Given the description of an element on the screen output the (x, y) to click on. 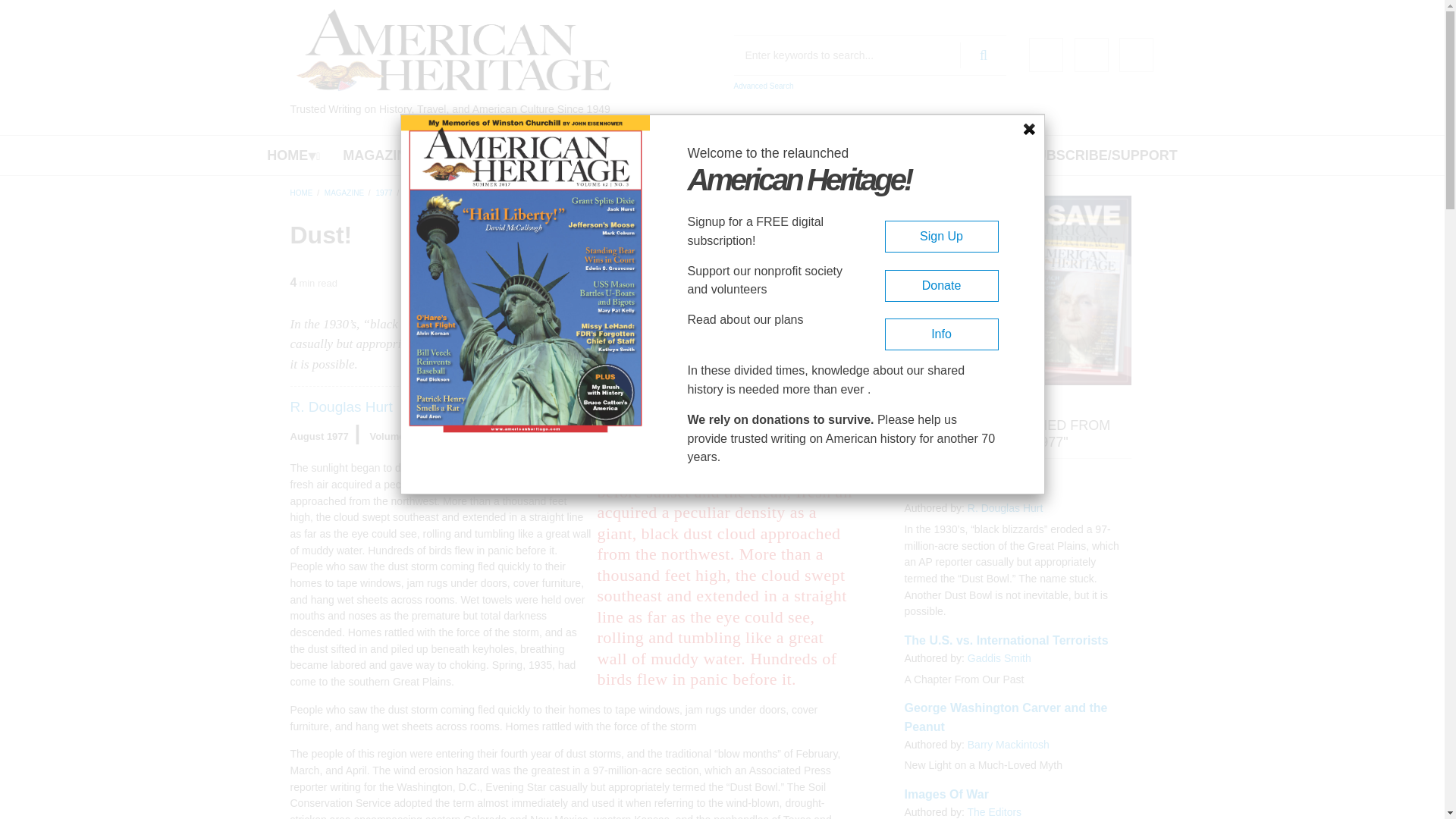
Search (982, 54)
Advanced Search (763, 85)
RSS (1136, 54)
Facebook (1045, 54)
Home (453, 50)
Twitter (1091, 54)
Search (982, 54)
Search (982, 54)
Enter the terms you wish to search for. (870, 55)
